Given the description of an element on the screen output the (x, y) to click on. 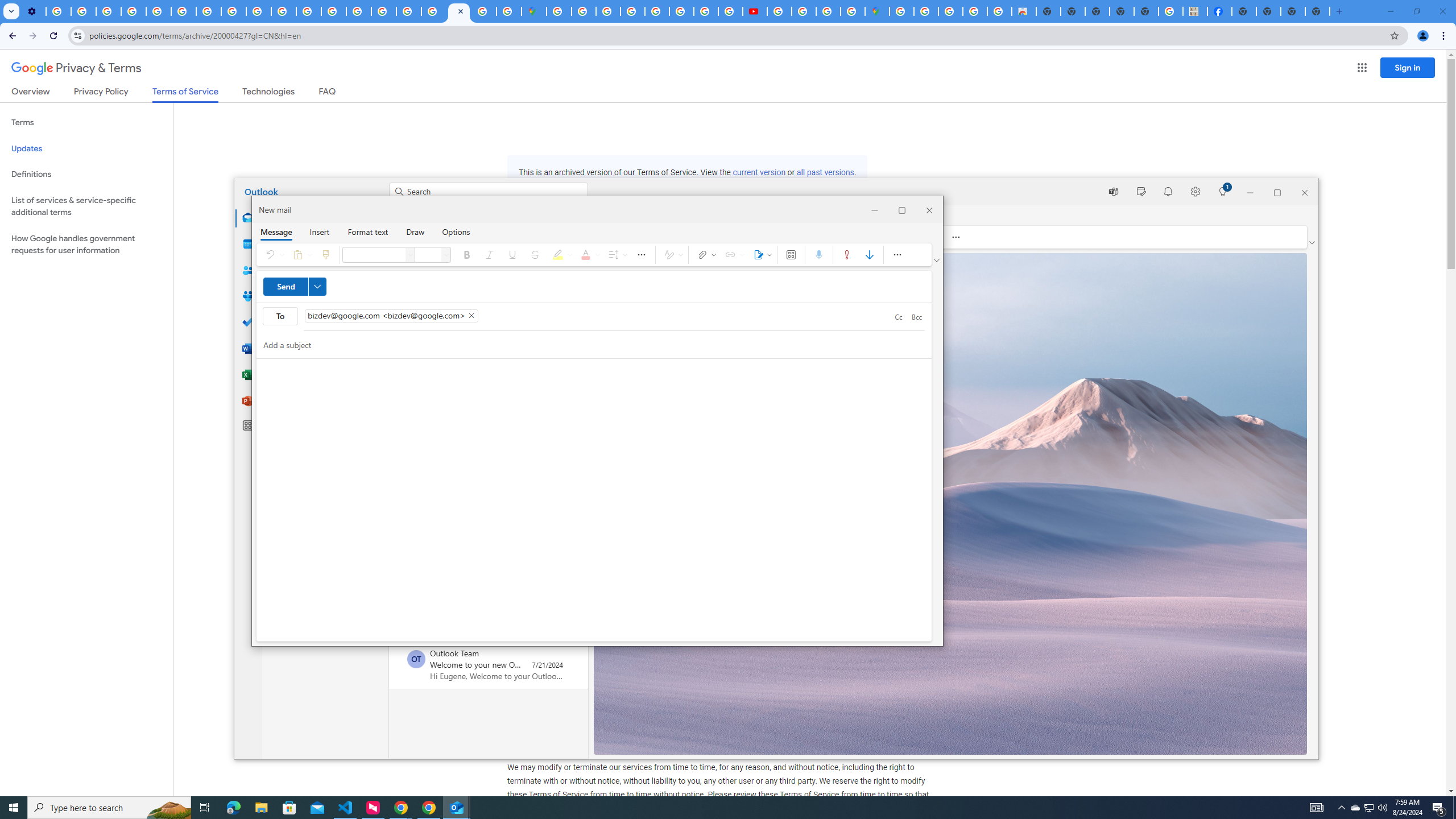
To (596, 316)
Bold (467, 254)
Paste (300, 254)
My Day (1140, 191)
Bcc (916, 316)
Message body, press Alt+F10 to exit (593, 499)
Send (294, 286)
More options (897, 254)
Undo (272, 254)
High importance (1355, 807)
To (846, 254)
Italic (280, 316)
